Given the description of an element on the screen output the (x, y) to click on. 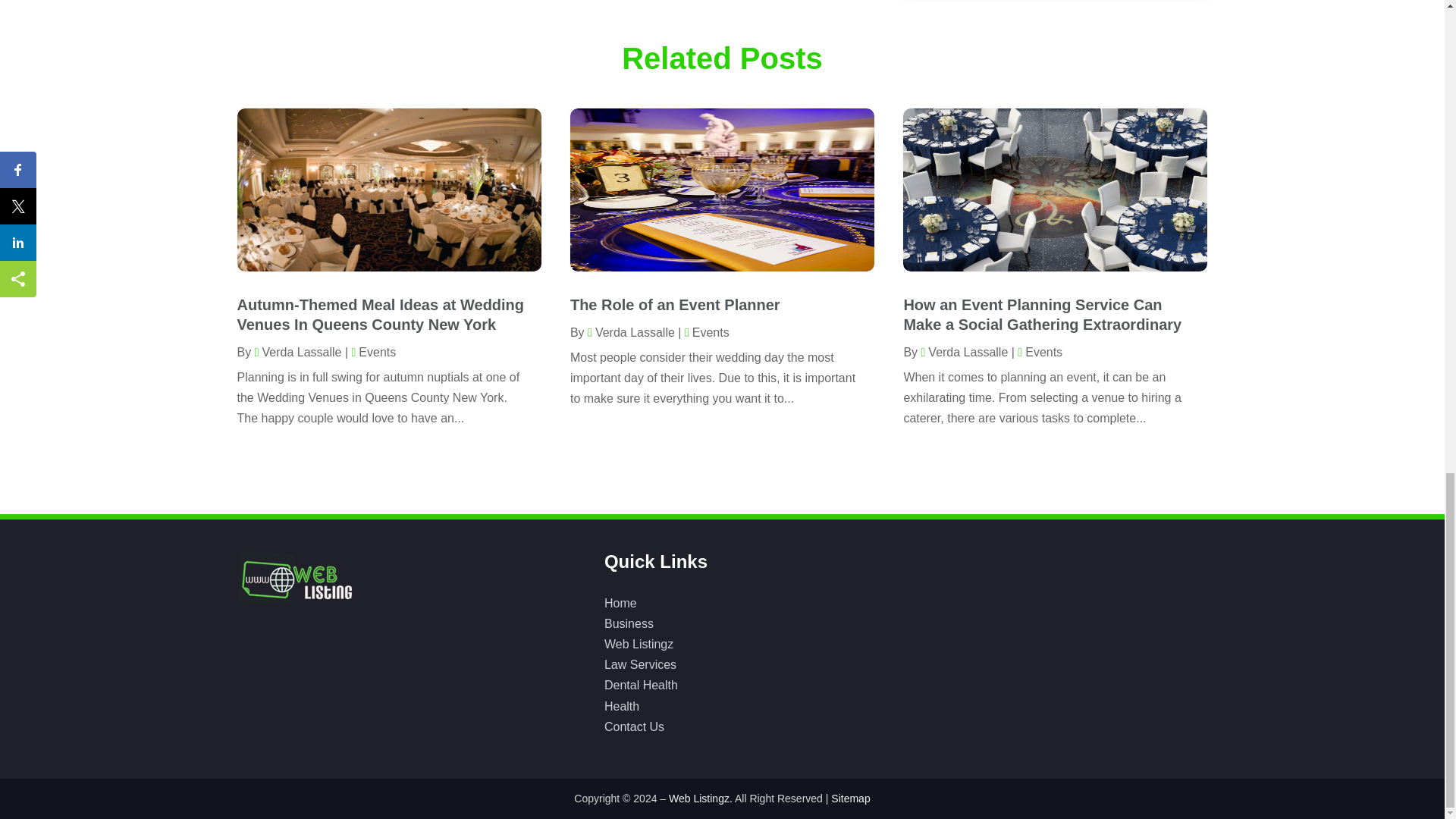
Web Listingz - Footer Logo (292, 575)
Posts by Verda Lassalle (631, 332)
Posts by Verda Lassalle (963, 351)
Posts by Verda Lassalle (298, 351)
